Given the description of an element on the screen output the (x, y) to click on. 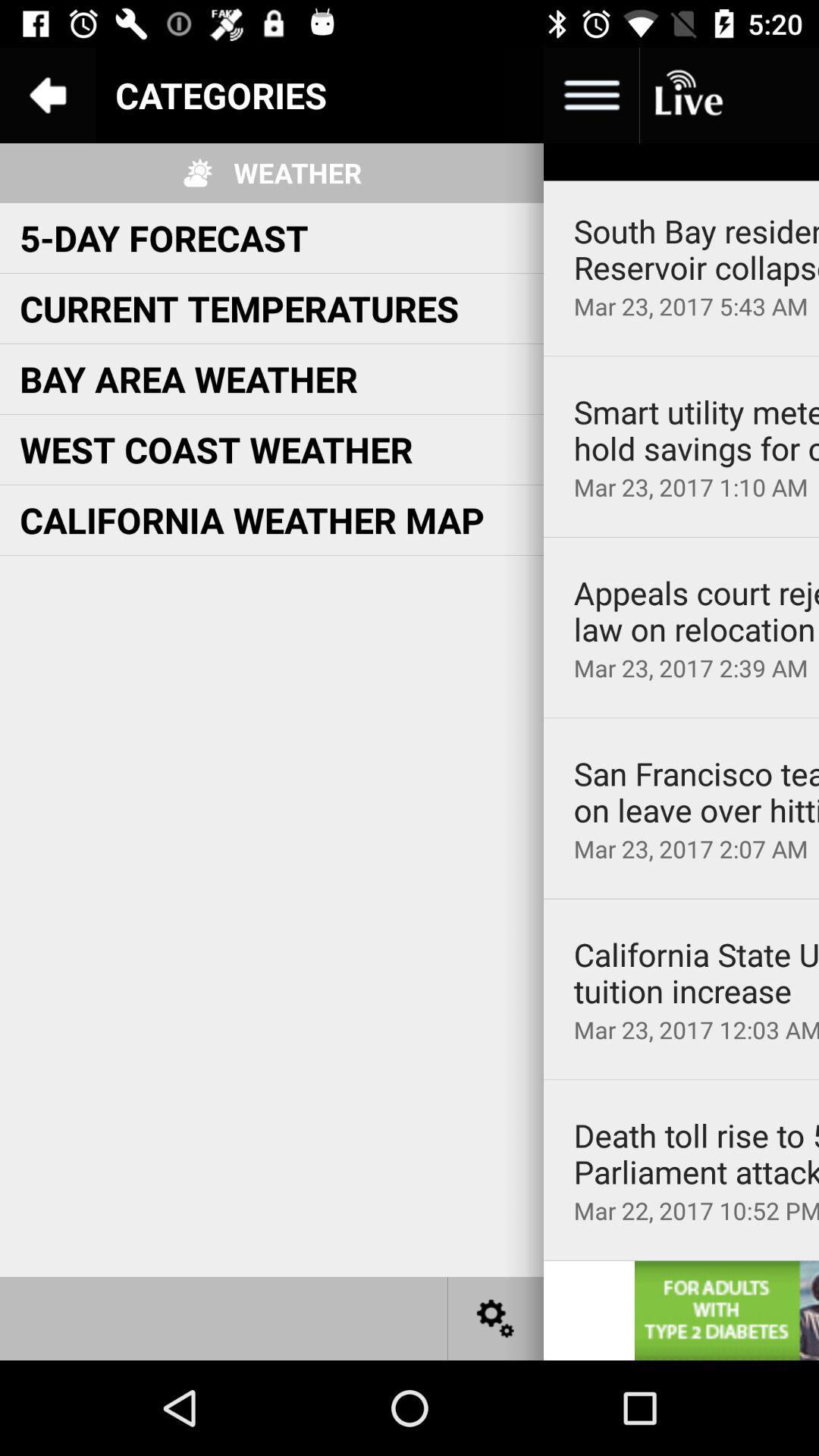
toggle live feed option (687, 95)
